Given the description of an element on the screen output the (x, y) to click on. 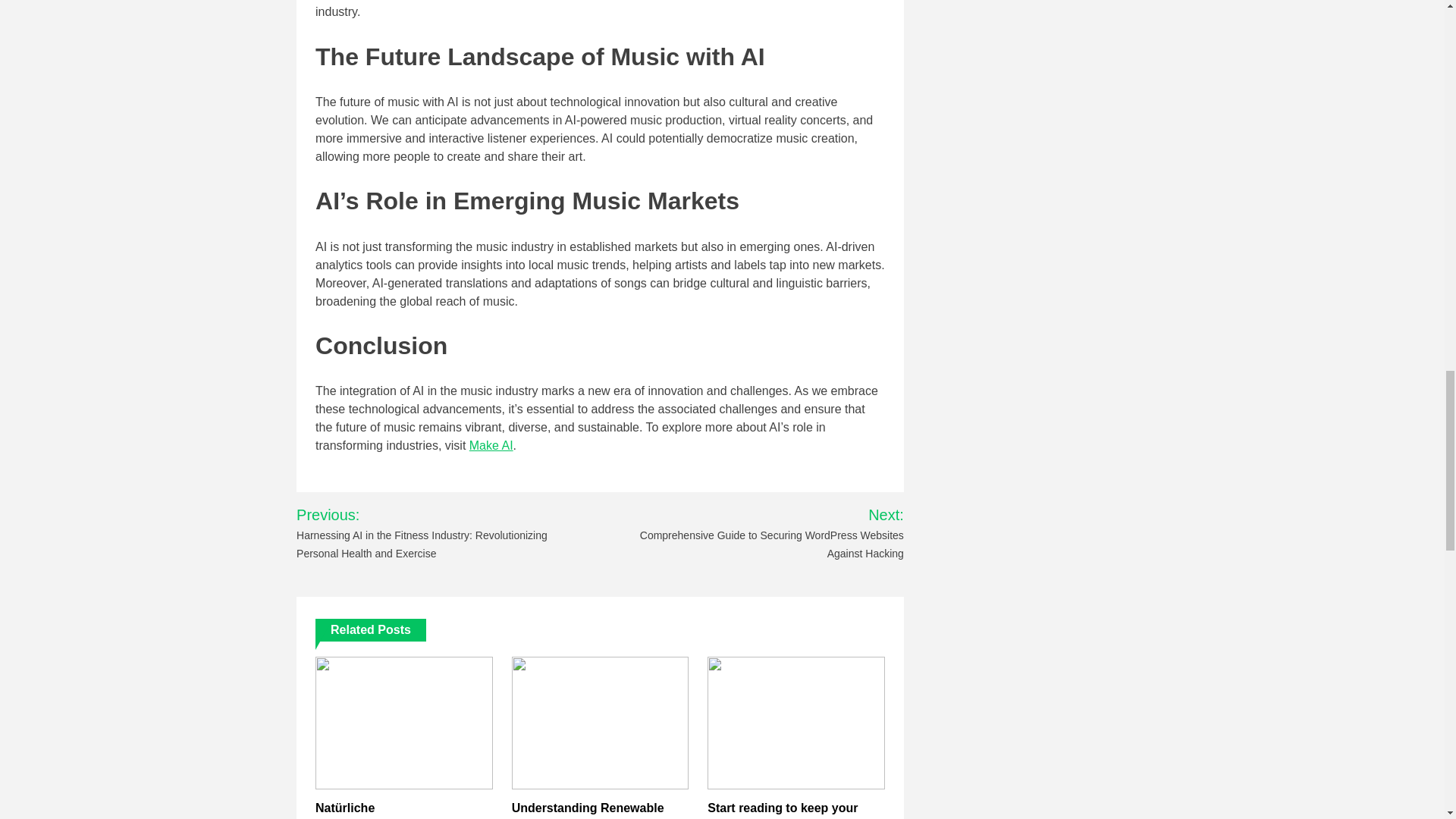
Start reading to keep your mind healthy (782, 810)
Make AI (490, 445)
